Given the description of an element on the screen output the (x, y) to click on. 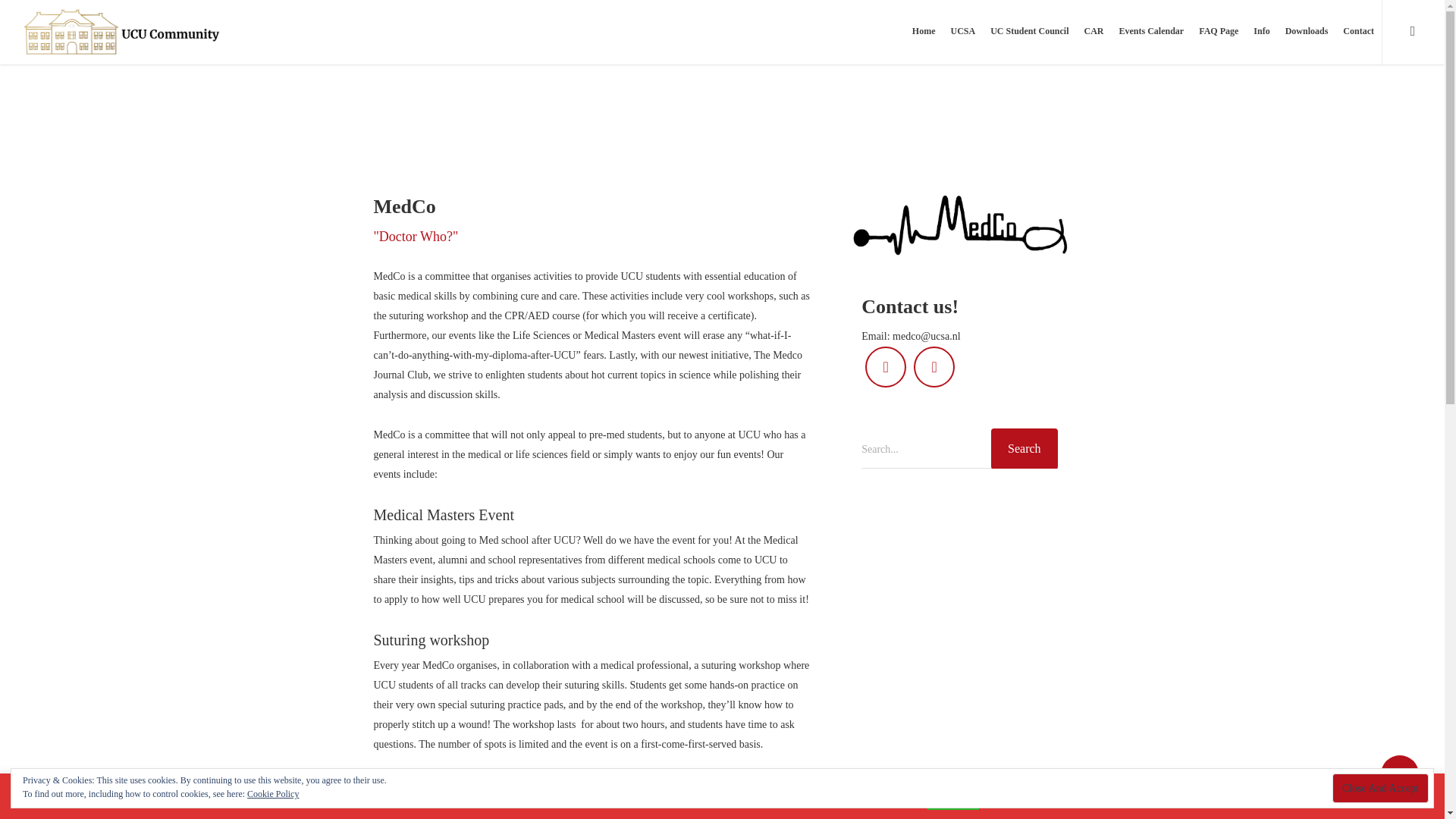
Search for: (959, 450)
Search (1024, 448)
Search (1024, 448)
Close and accept (1380, 788)
